Given the description of an element on the screen output the (x, y) to click on. 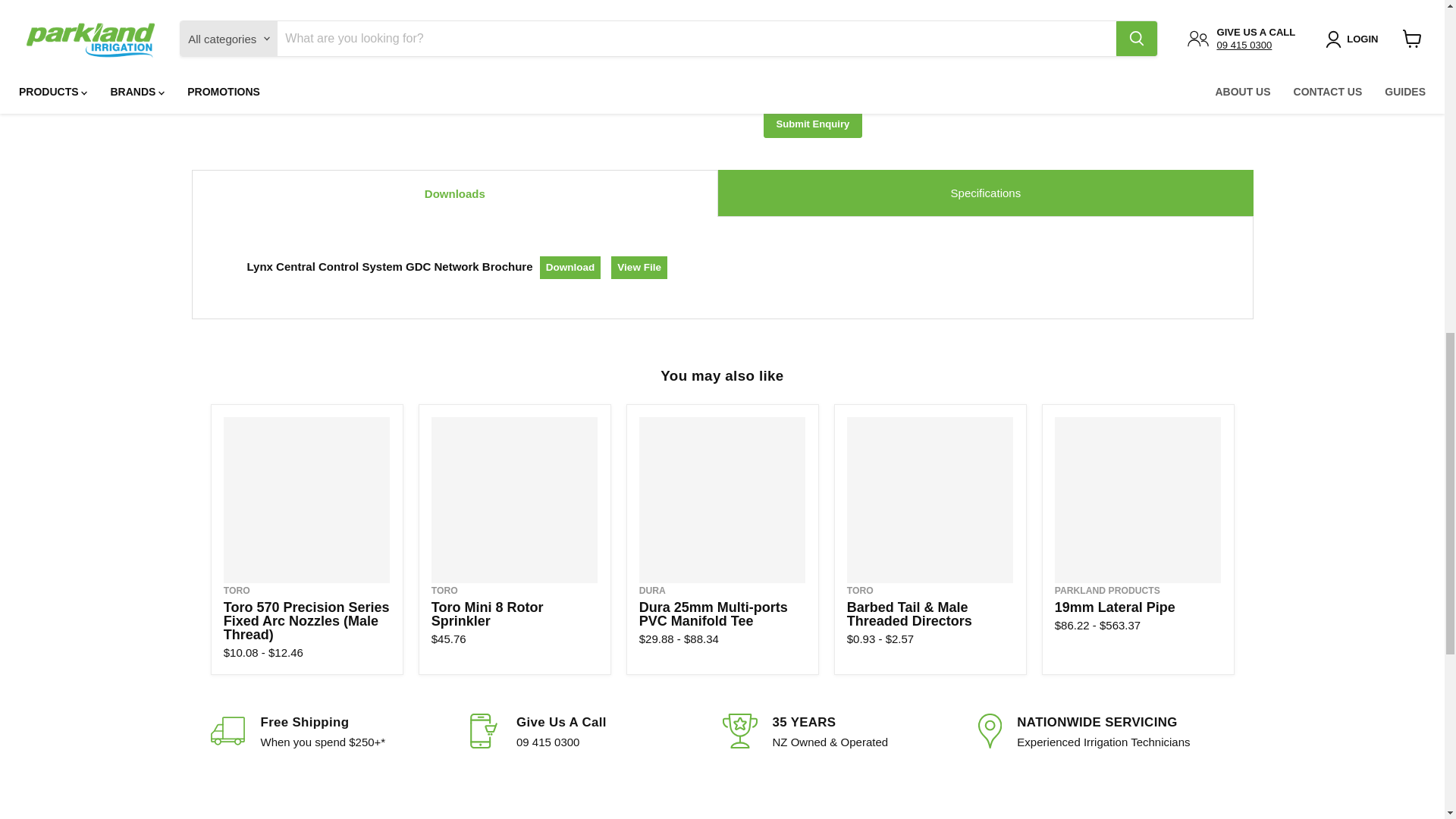
Toro (444, 590)
Parkland Products (1107, 590)
Toro (860, 590)
Toro (237, 590)
Dura (652, 590)
